Given the description of an element on the screen output the (x, y) to click on. 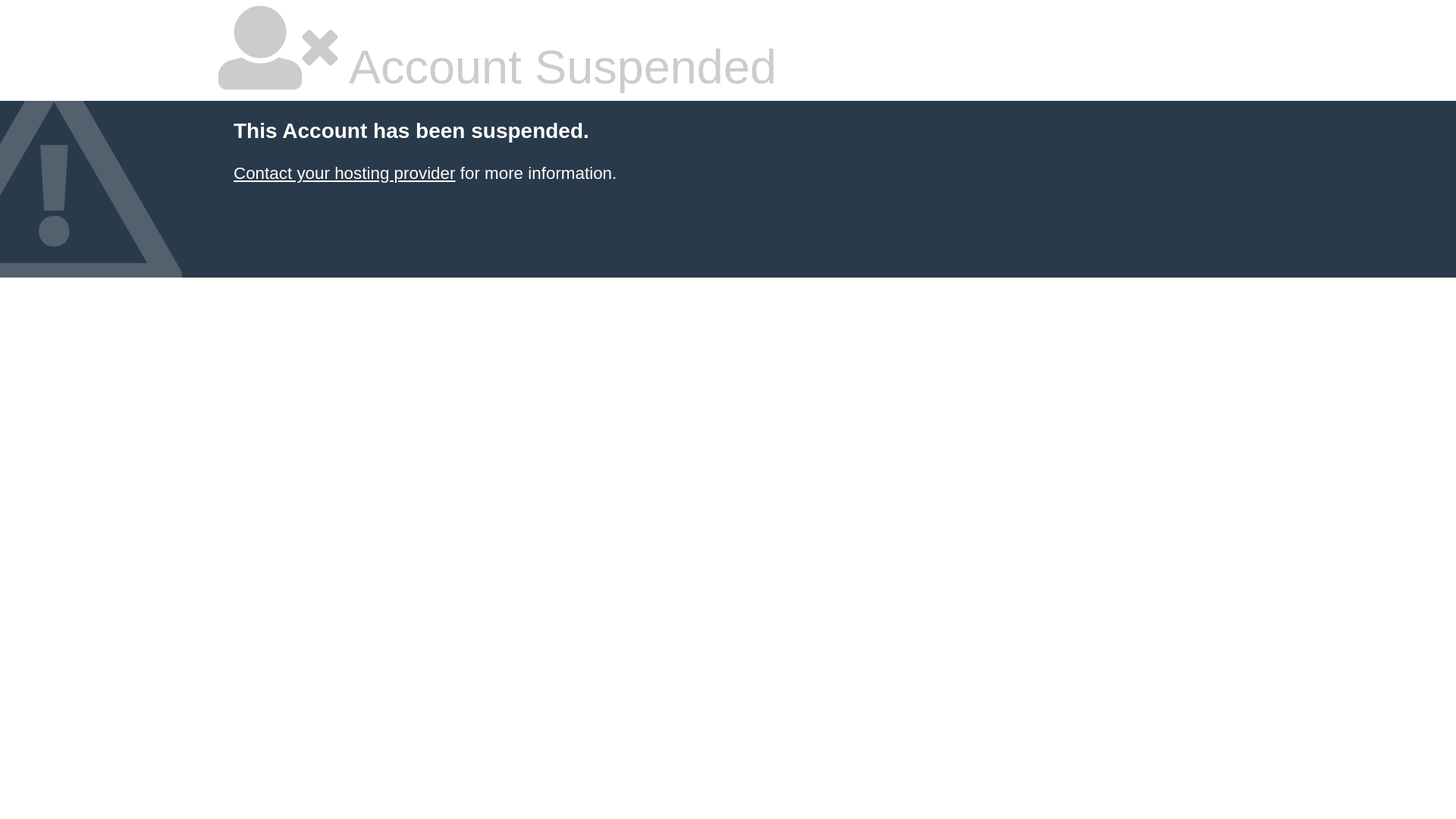
Contact your hosting provider Element type: text (344, 172)
